Given the description of an element on the screen output the (x, y) to click on. 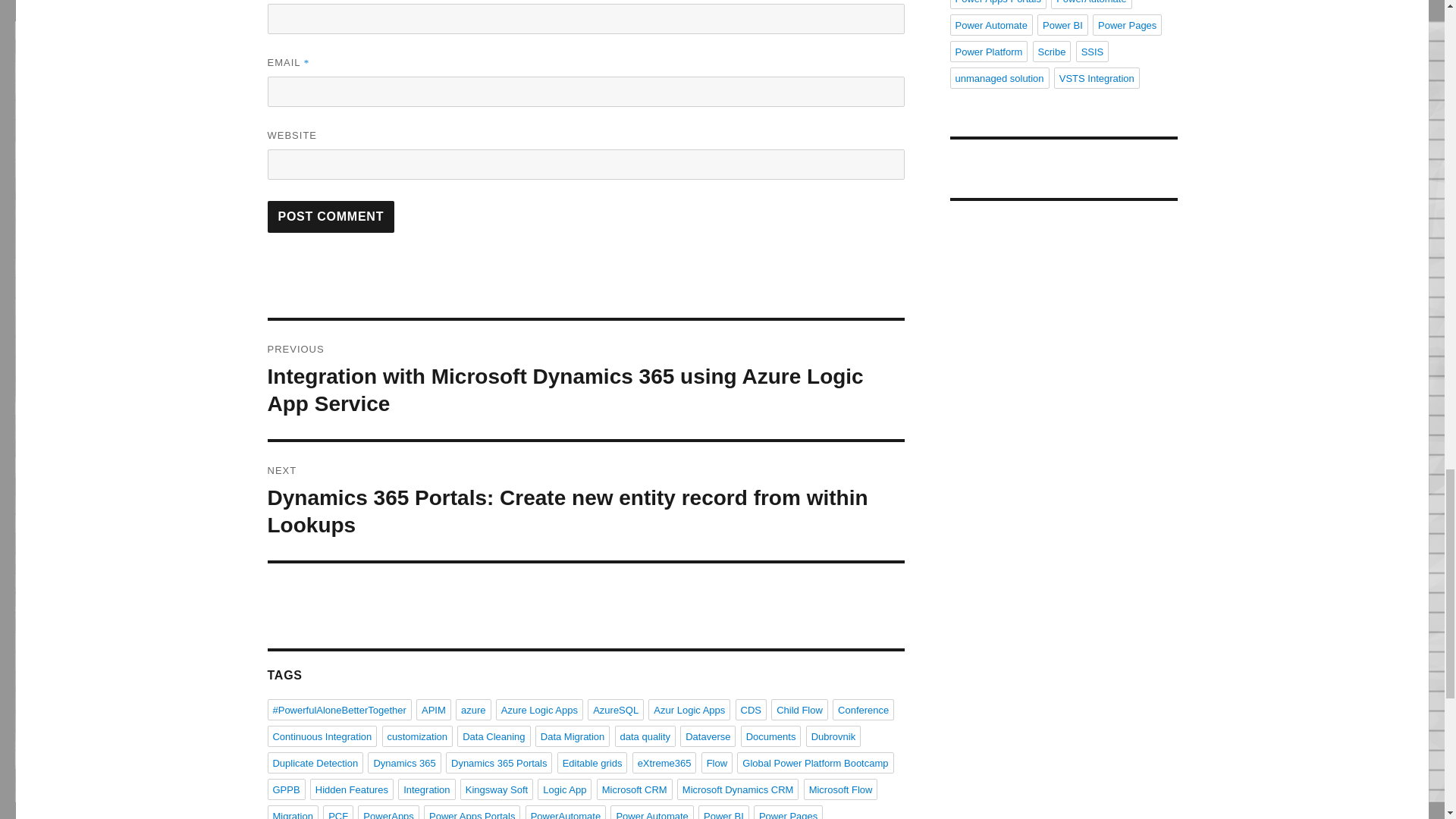
Post Comment (330, 216)
customization (416, 735)
Child Flow (799, 709)
Conference (862, 709)
Azur Logic Apps (688, 709)
Continuous Integration (321, 735)
Post Comment (330, 216)
AzureSQL (615, 709)
